Given the description of an element on the screen output the (x, y) to click on. 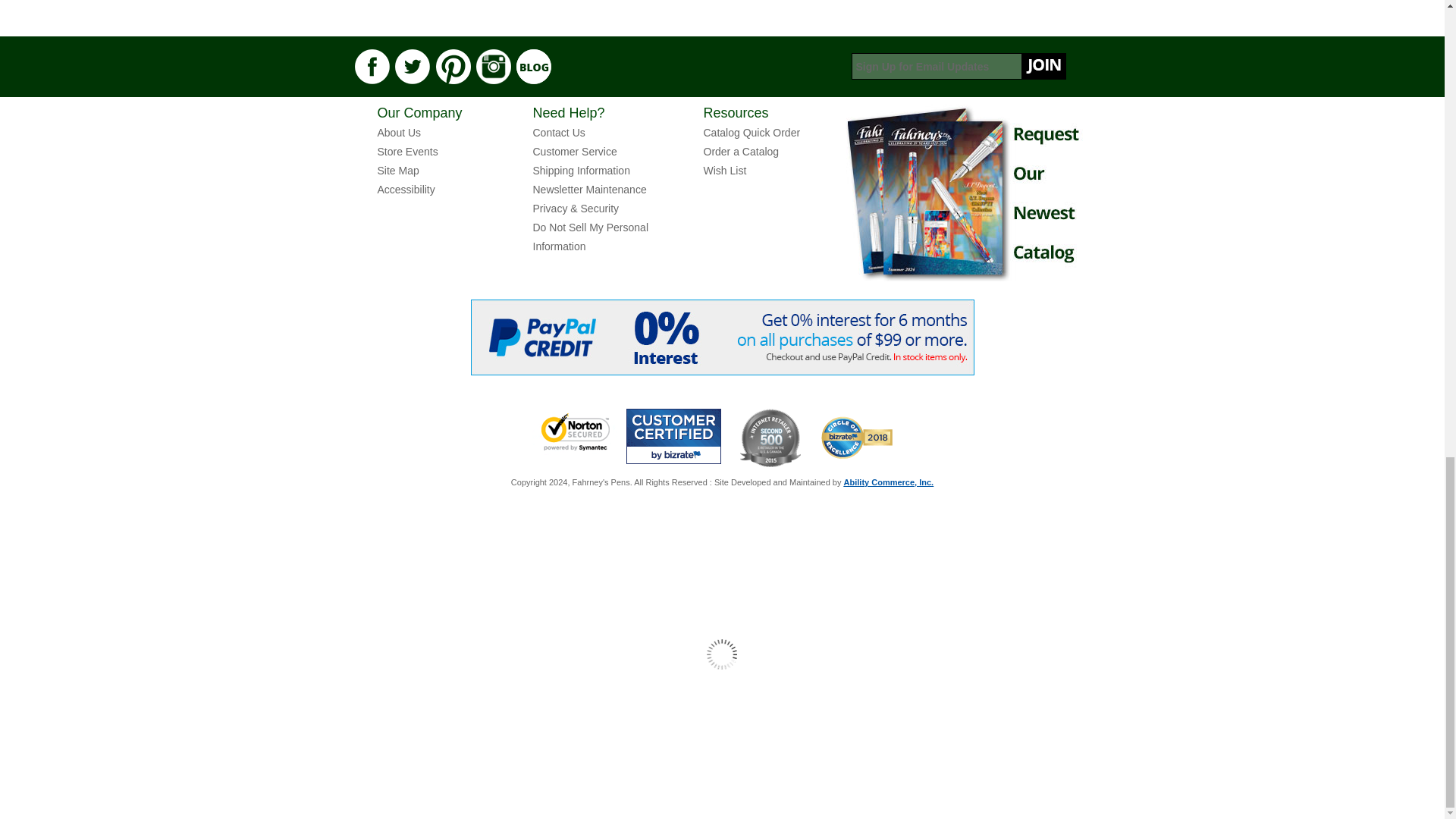
Sign Up for Email Updates (957, 66)
